Given the description of an element on the screen output the (x, y) to click on. 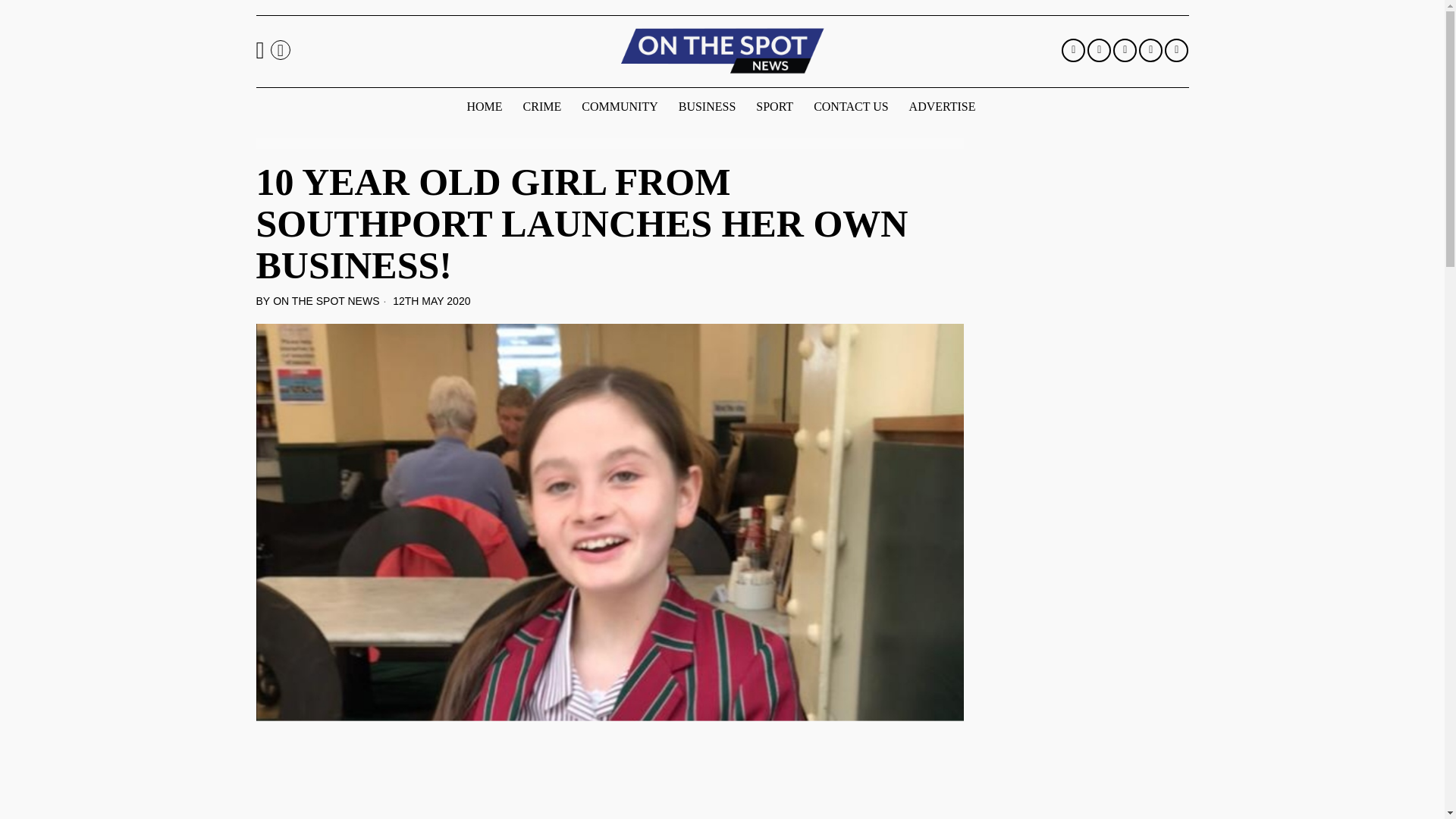
BUSINESS (708, 106)
CRIME (543, 106)
SPORT (775, 106)
ON THE SPOT NEWS (325, 301)
12 May, 2020 07:20:48 (424, 301)
CONTACT US (852, 106)
HOME (485, 106)
ADVERTISE (943, 106)
COMMUNITY (620, 106)
